Given the description of an element on the screen output the (x, y) to click on. 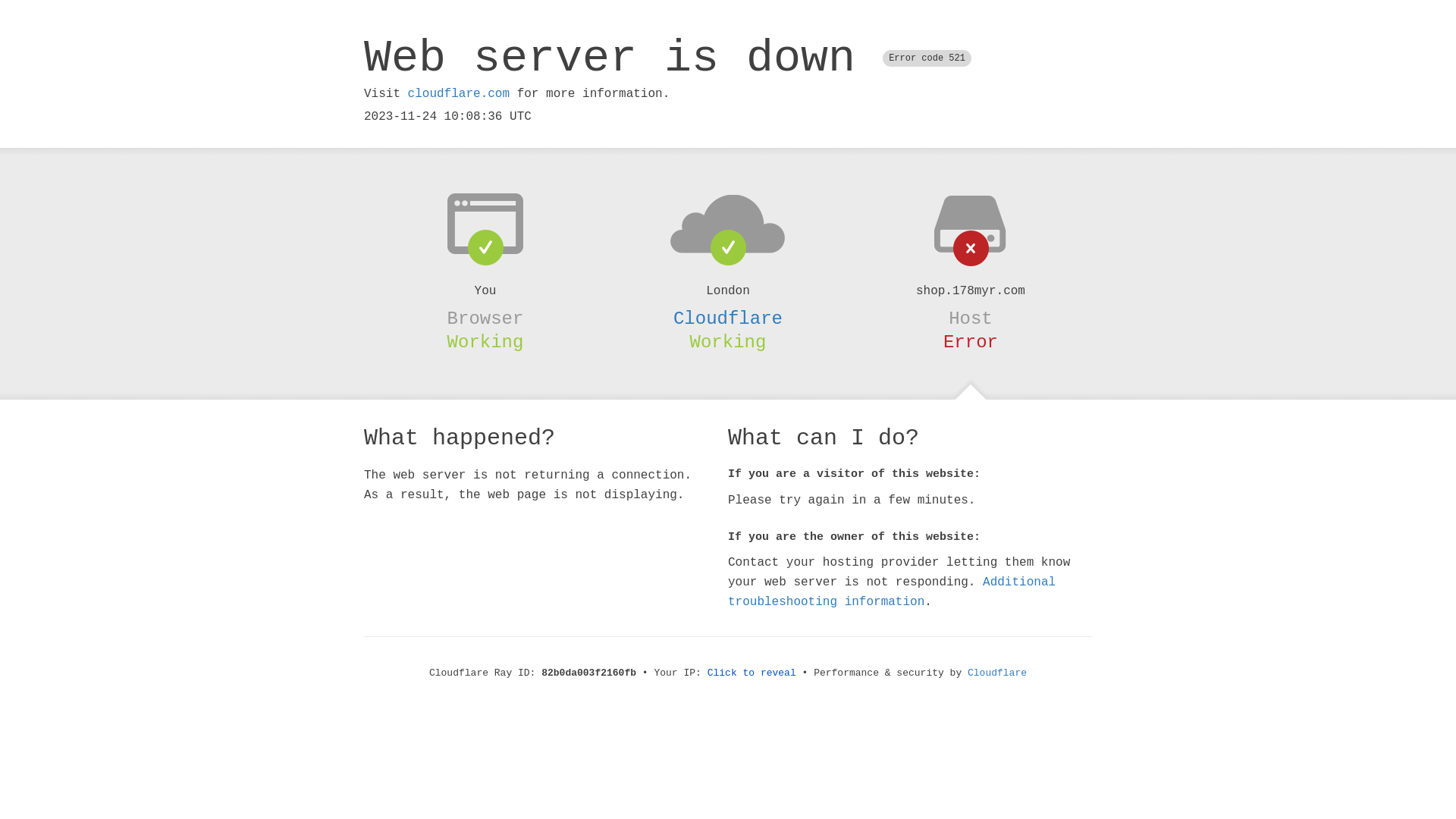
Additional troubleshooting information Element type: text (891, 591)
Click to reveal Element type: text (751, 672)
cloudflare.com Element type: text (458, 93)
Cloudflare Element type: text (996, 672)
Cloudflare Element type: text (727, 318)
